Given the description of an element on the screen output the (x, y) to click on. 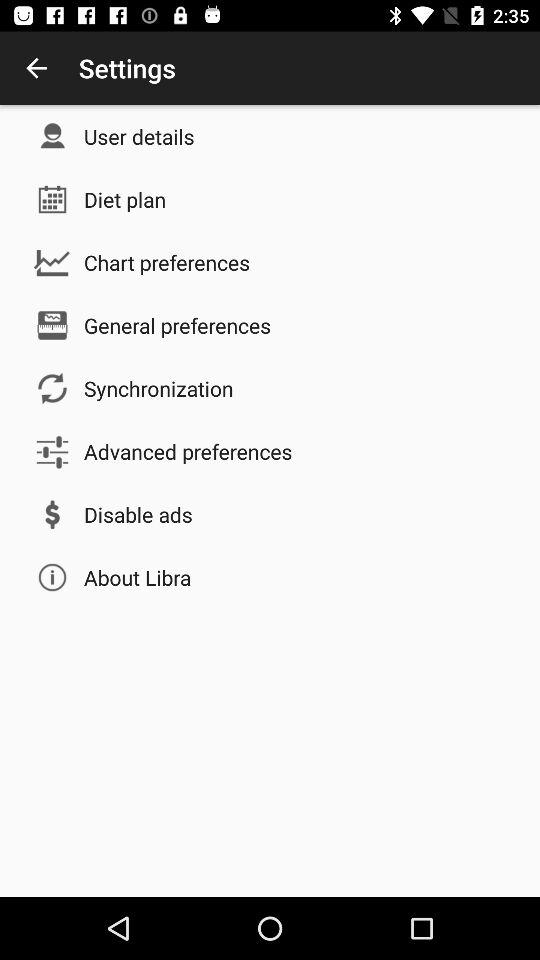
jump to chart preferences (167, 262)
